Given the description of an element on the screen output the (x, y) to click on. 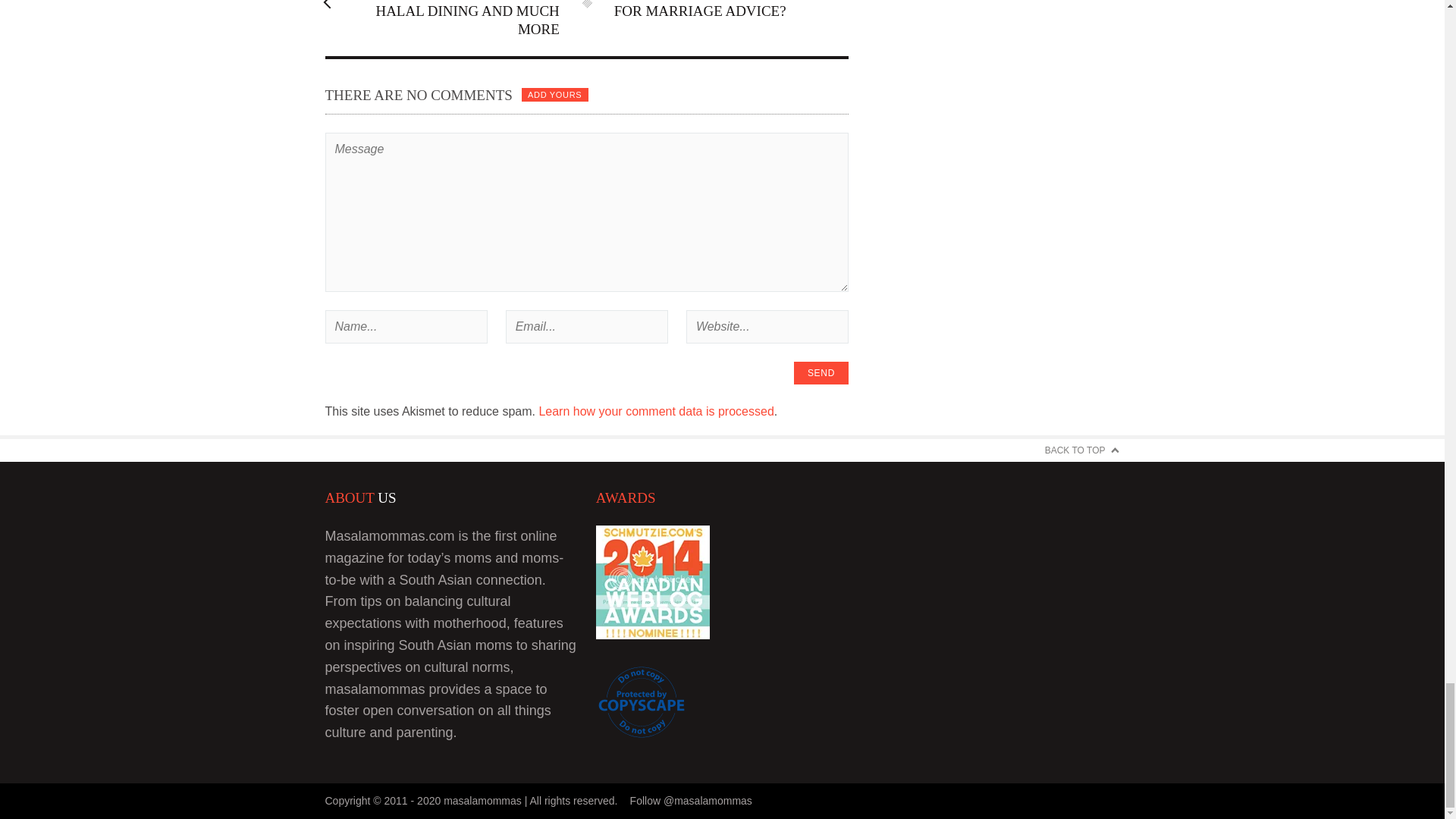
Send (820, 372)
2014 Canadian Weblog Awards nominee (652, 634)
